Given the description of an element on the screen output the (x, y) to click on. 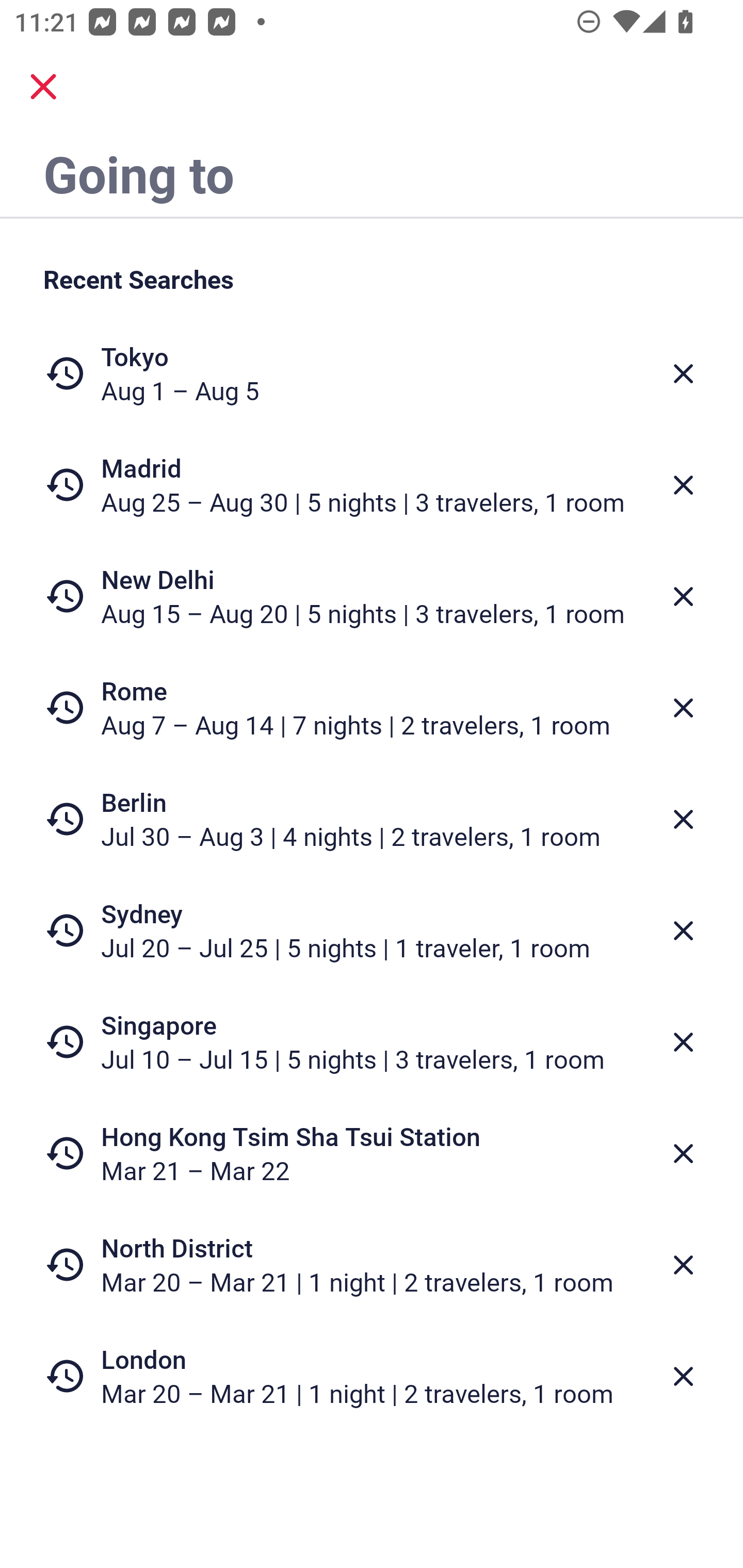
close. (43, 86)
Tokyo Aug 1 – Aug 5 (371, 373)
Delete from recent searches (683, 373)
Delete from recent searches (683, 485)
Delete from recent searches (683, 596)
Delete from recent searches (683, 707)
Delete from recent searches (683, 819)
Delete from recent searches (683, 930)
Delete from recent searches (683, 1041)
Hong Kong Tsim Sha Tsui Station Mar 21 – Mar 22 (371, 1152)
Delete from recent searches (683, 1153)
Delete from recent searches (683, 1265)
Delete from recent searches (683, 1376)
